Given the description of an element on the screen output the (x, y) to click on. 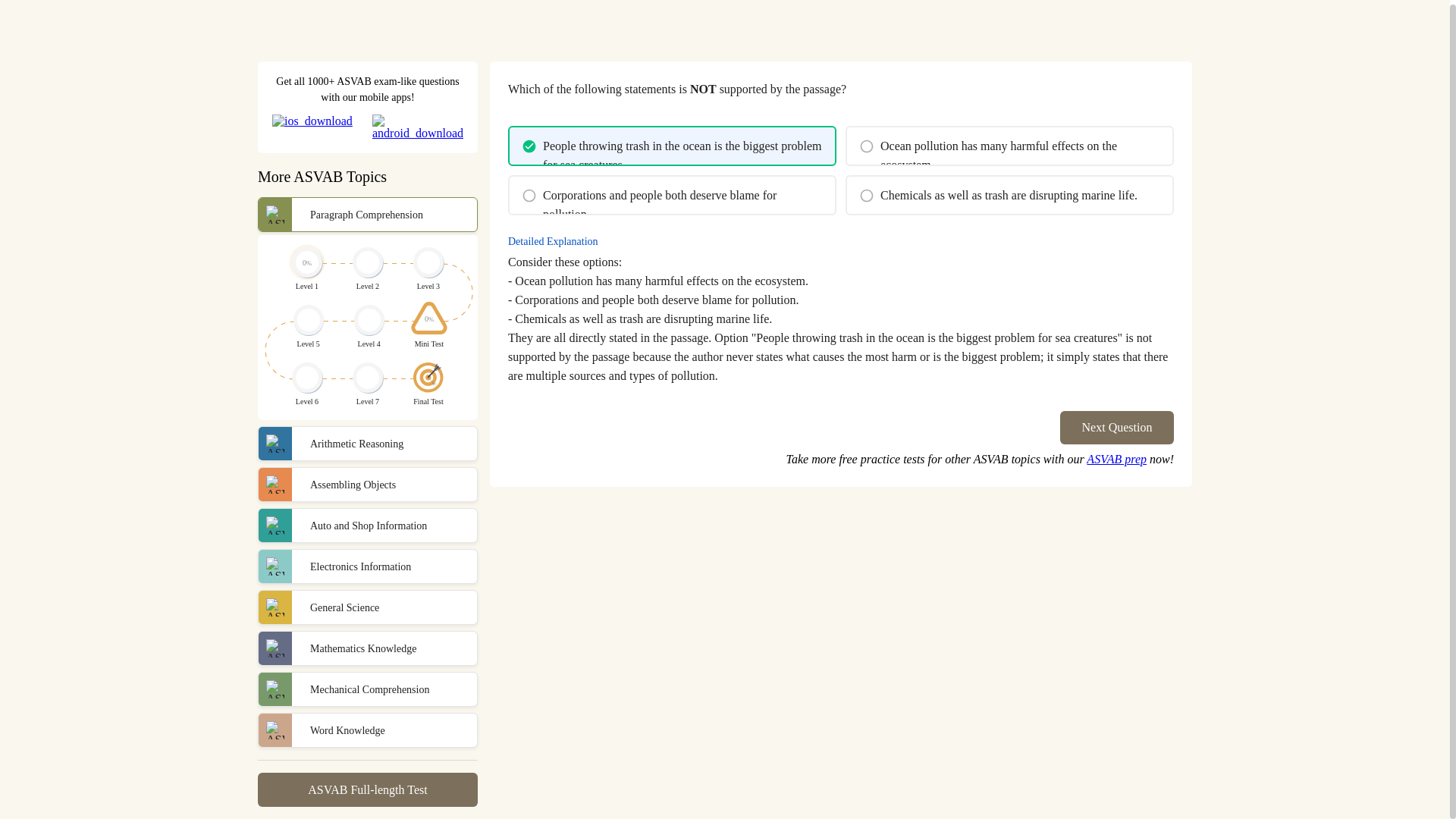
ASVAB prep (1116, 459)
Arithmetic Reasoning (367, 443)
Mechanical Comprehension (367, 688)
Next Question (1116, 427)
Word Knowledge (367, 729)
Auto and Shop Information (367, 524)
Paragraph Comprehension (367, 214)
ASVAB Full-length Test (367, 789)
Assembling Objects (367, 484)
General Science (367, 606)
